Given the description of an element on the screen output the (x, y) to click on. 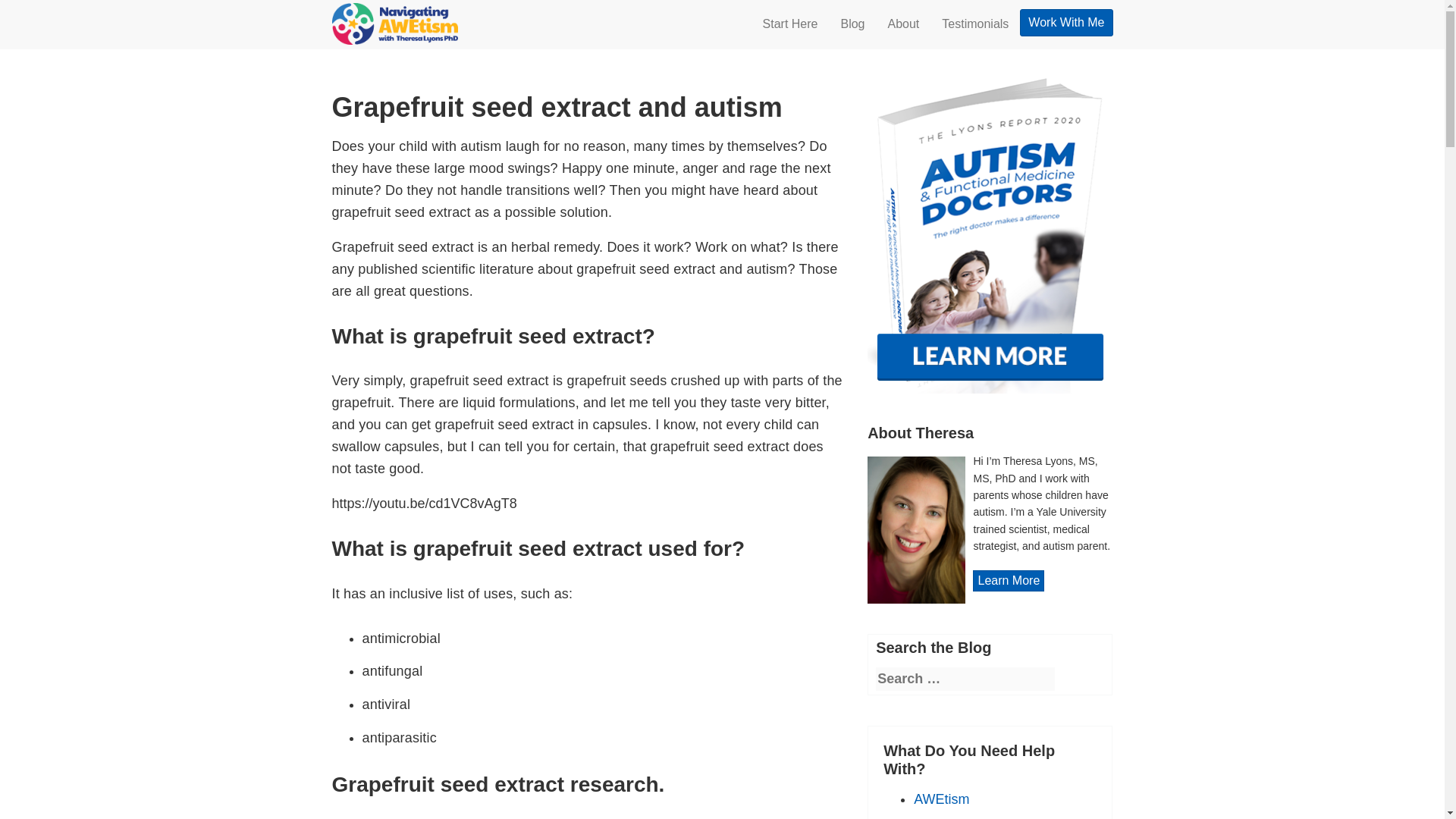
Start Here (790, 24)
Blog (852, 24)
Testimonials (975, 24)
Blog (852, 24)
Work With Me (1066, 22)
Start Here (790, 24)
About (903, 24)
Work With Me (1066, 22)
Navigating AWEtism (394, 18)
Learn More (1007, 580)
Testimonials (975, 24)
AWEtism (941, 798)
About (903, 24)
Search for: (965, 679)
